Given the description of an element on the screen output the (x, y) to click on. 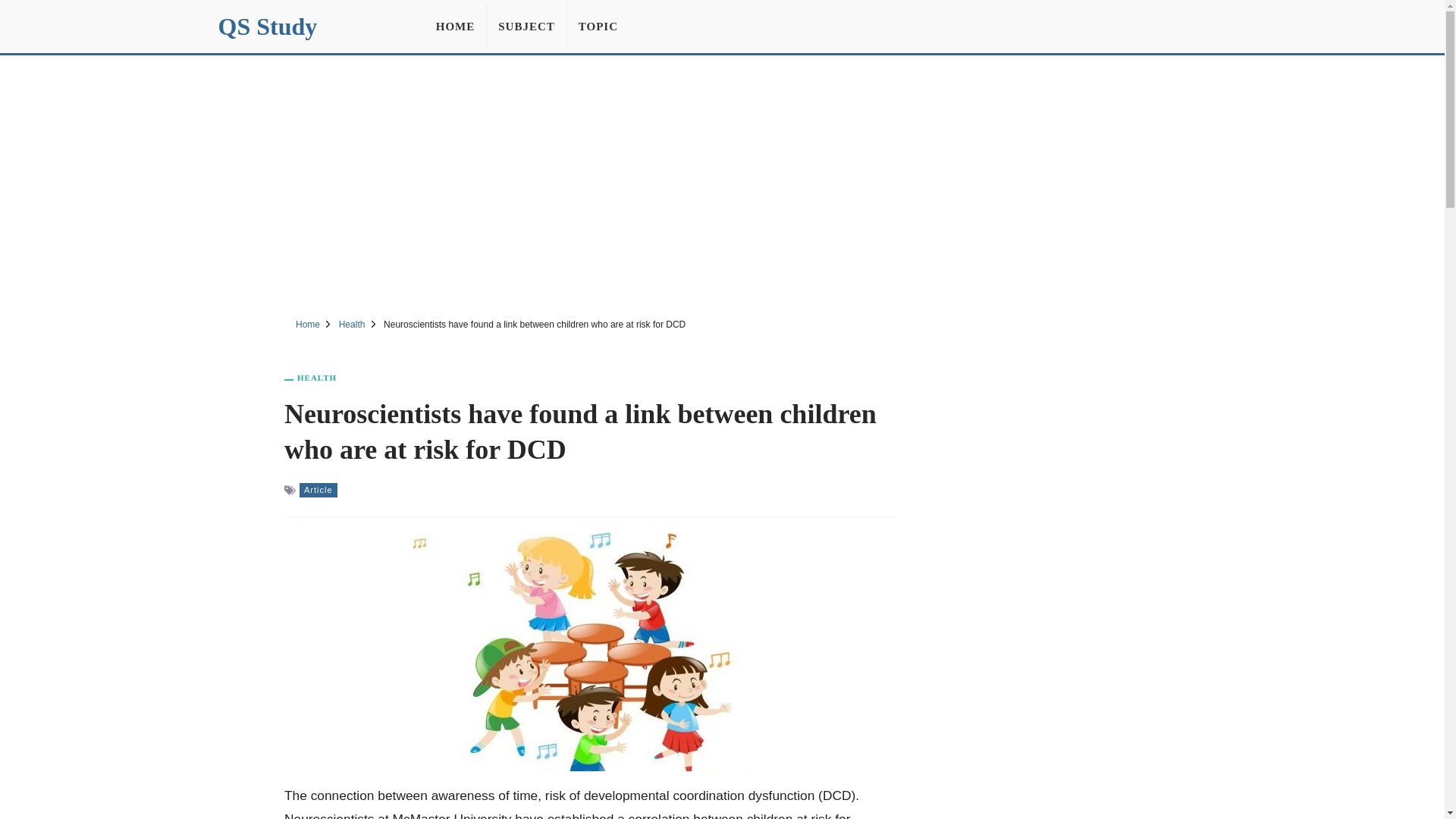
Article (318, 490)
Subject (526, 26)
Topic (597, 26)
SUBJECT (526, 26)
TOPIC (597, 26)
Article (318, 490)
QS Study (267, 25)
Health (316, 377)
Home (307, 324)
HEALTH (316, 377)
Health (352, 324)
HOME (455, 26)
